Given the description of an element on the screen output the (x, y) to click on. 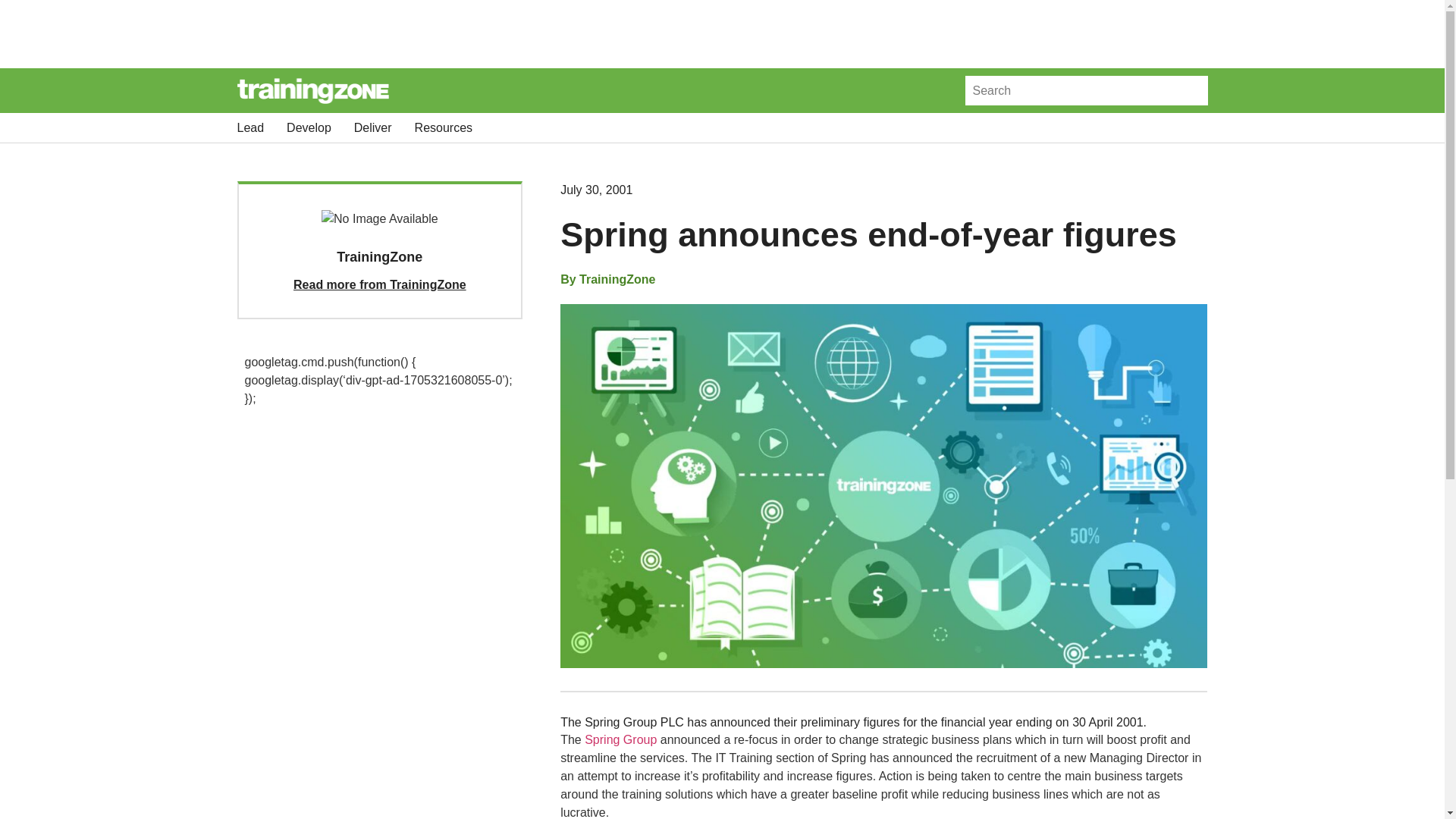
Spring Group (620, 739)
Resources (442, 127)
Develop (308, 127)
Read more from TrainingZone (379, 284)
By TrainingZone (607, 280)
Lead (249, 127)
Deliver (372, 127)
